Given the description of an element on the screen output the (x, y) to click on. 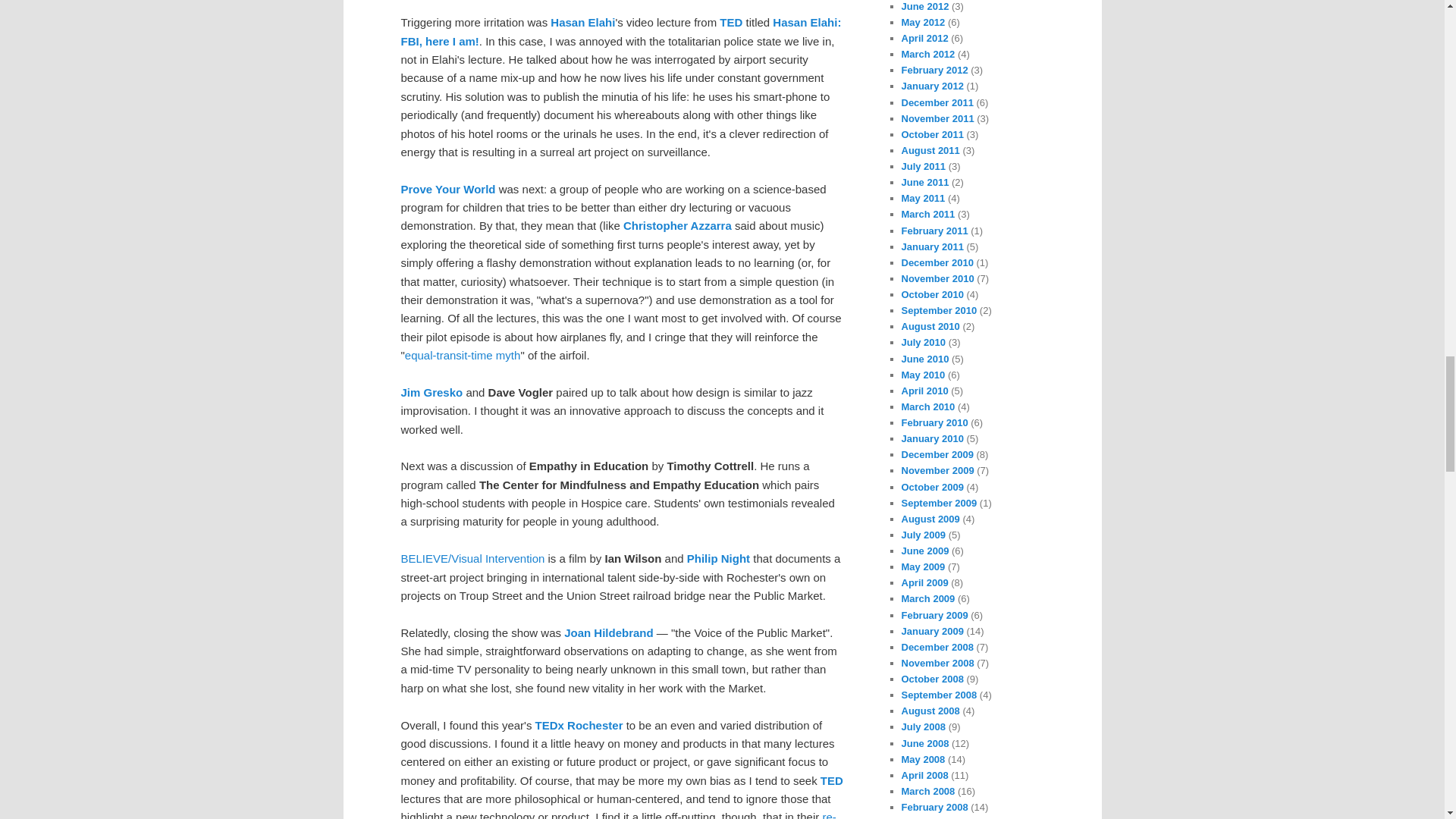
TED (730, 21)
Hasan Elahi: FBI, here I am! (620, 30)
Prove Your World (447, 188)
Hasan Elahi (582, 21)
